Given the description of an element on the screen output the (x, y) to click on. 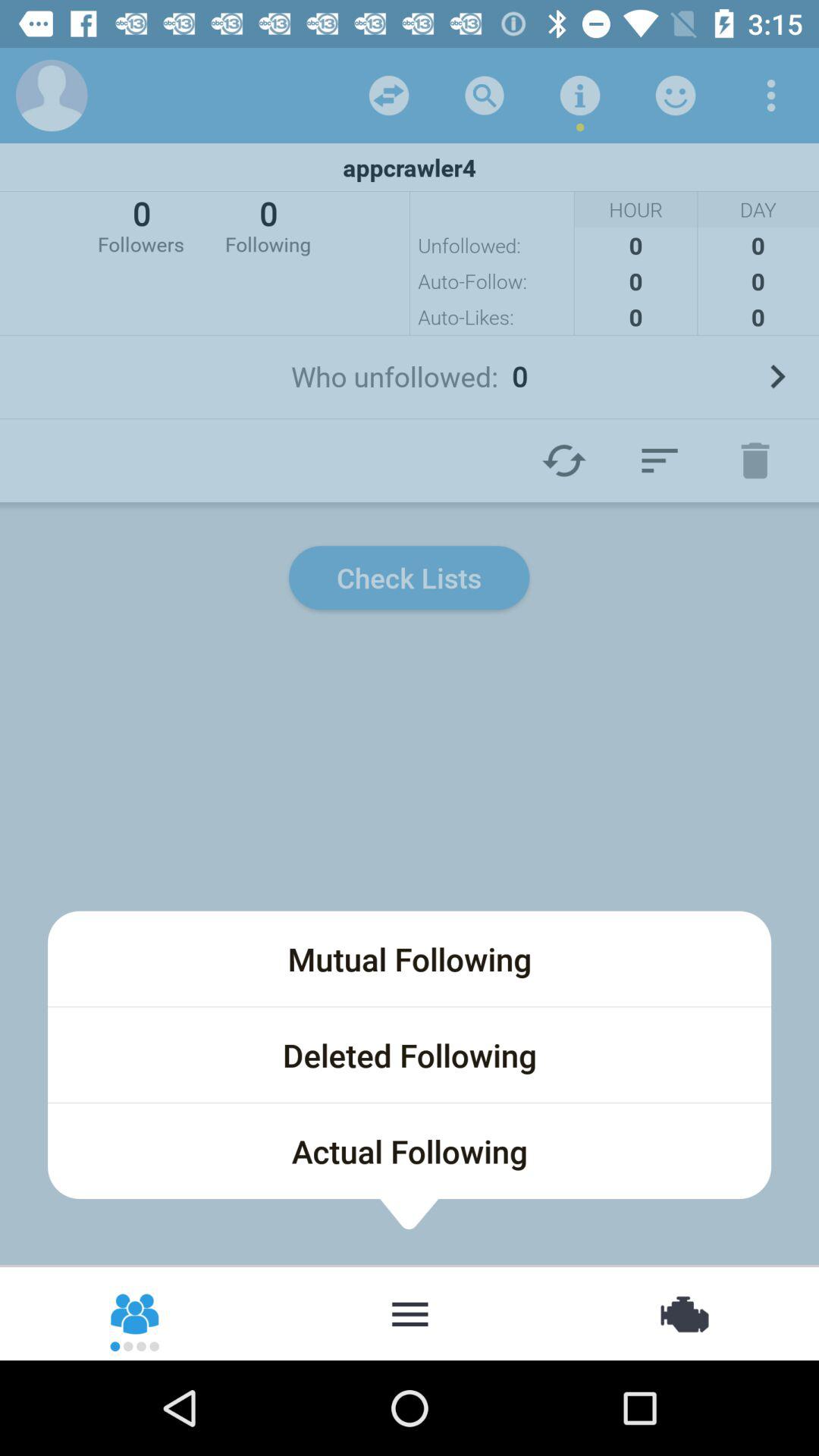
turn on icon below the deleted following (409, 1150)
